Given the description of an element on the screen output the (x, y) to click on. 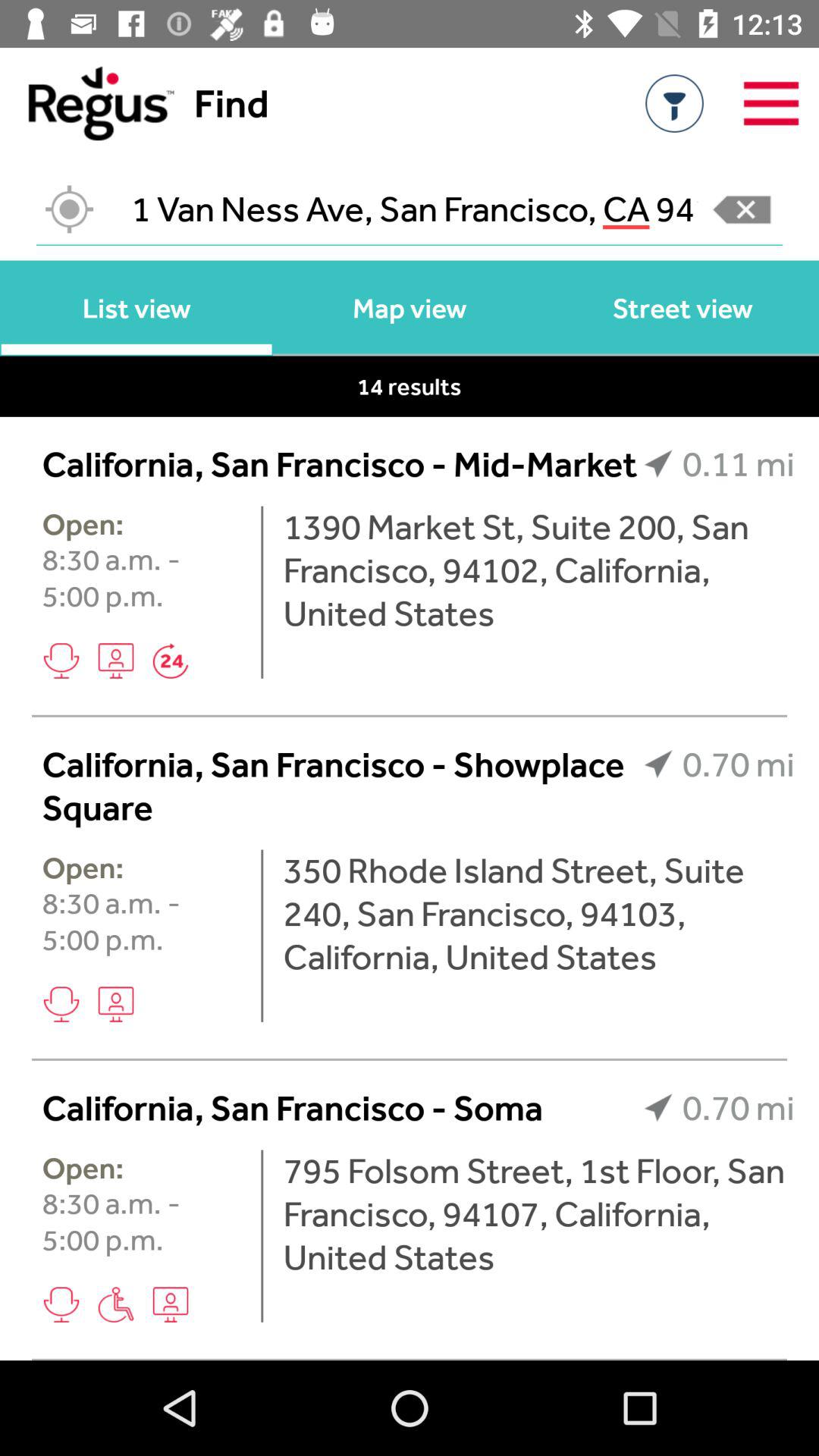
press item below the map view (409, 385)
